Given the description of an element on the screen output the (x, y) to click on. 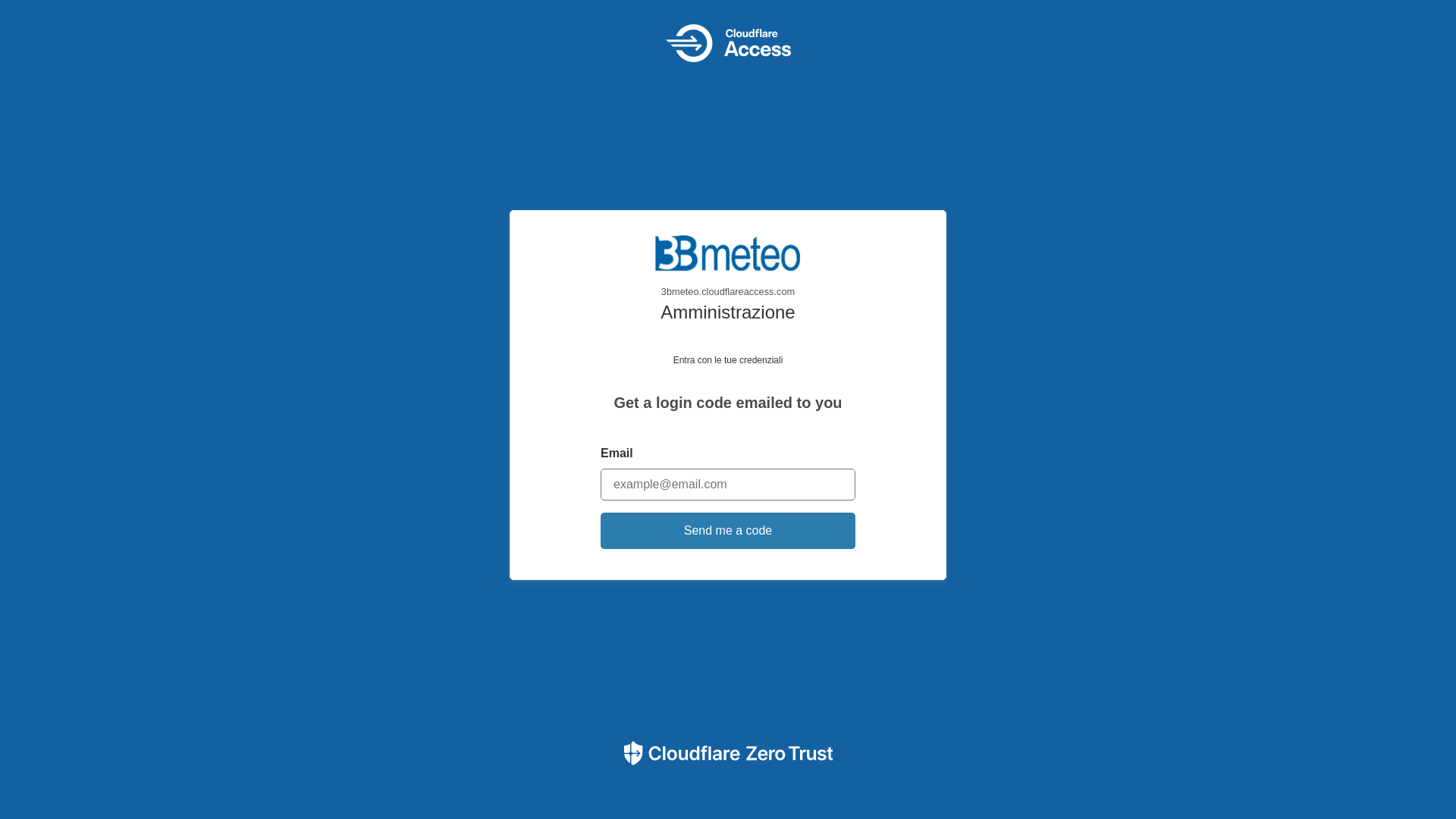
Send me a code Element type: text (727, 530)
3bmeteo.cloudflareaccess.com Element type: text (727, 266)
